Given the description of an element on the screen output the (x, y) to click on. 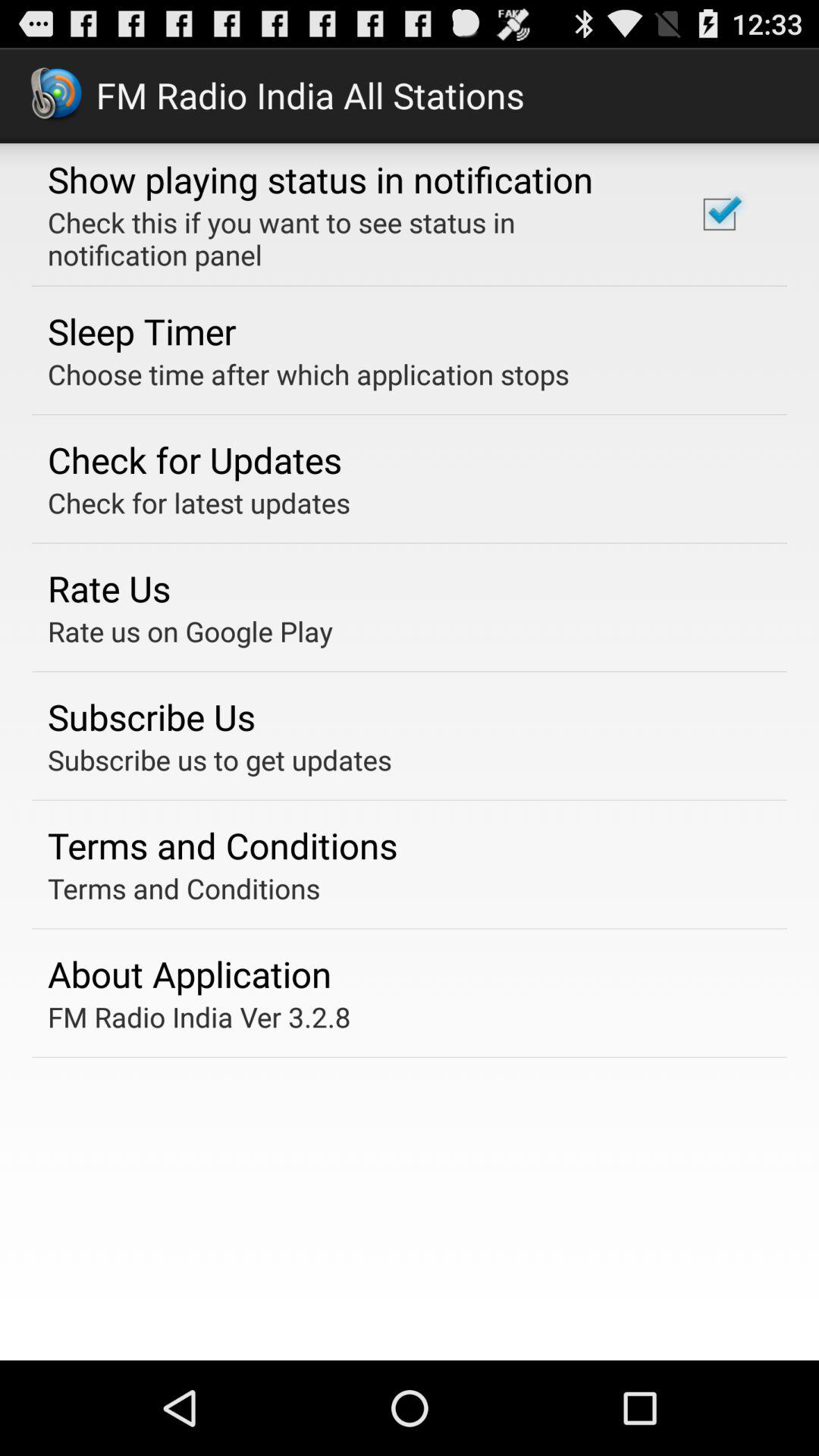
launch the item below terms and conditions icon (189, 973)
